Given the description of an element on the screen output the (x, y) to click on. 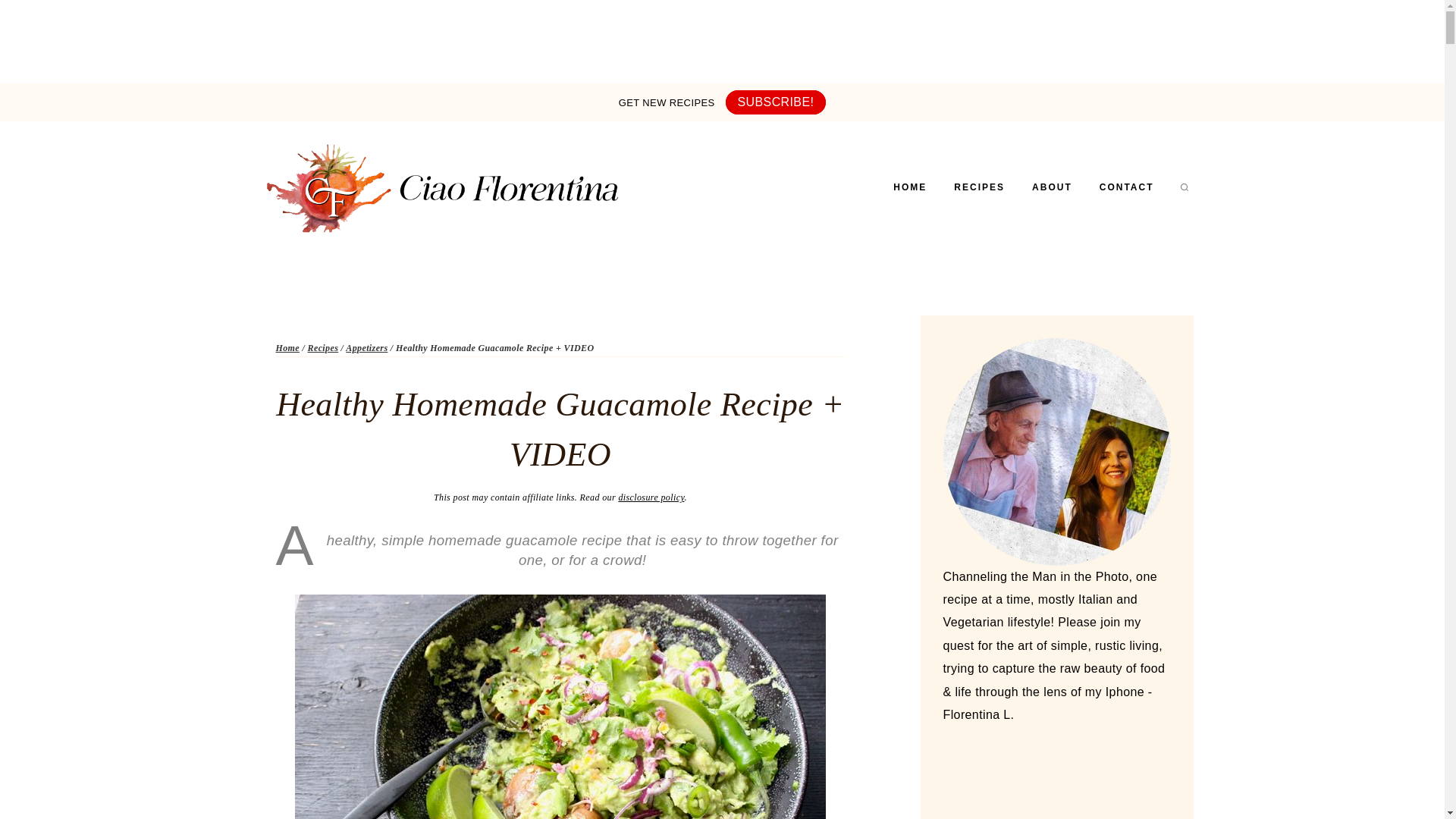
Home (287, 347)
Recipes (323, 347)
RECIPES (978, 187)
ABOUT (1051, 187)
HOME (909, 187)
Appetizers (366, 347)
CONTACT (1126, 187)
disclosure policy (650, 497)
SUBSCRIBE! (776, 102)
